Given the description of an element on the screen output the (x, y) to click on. 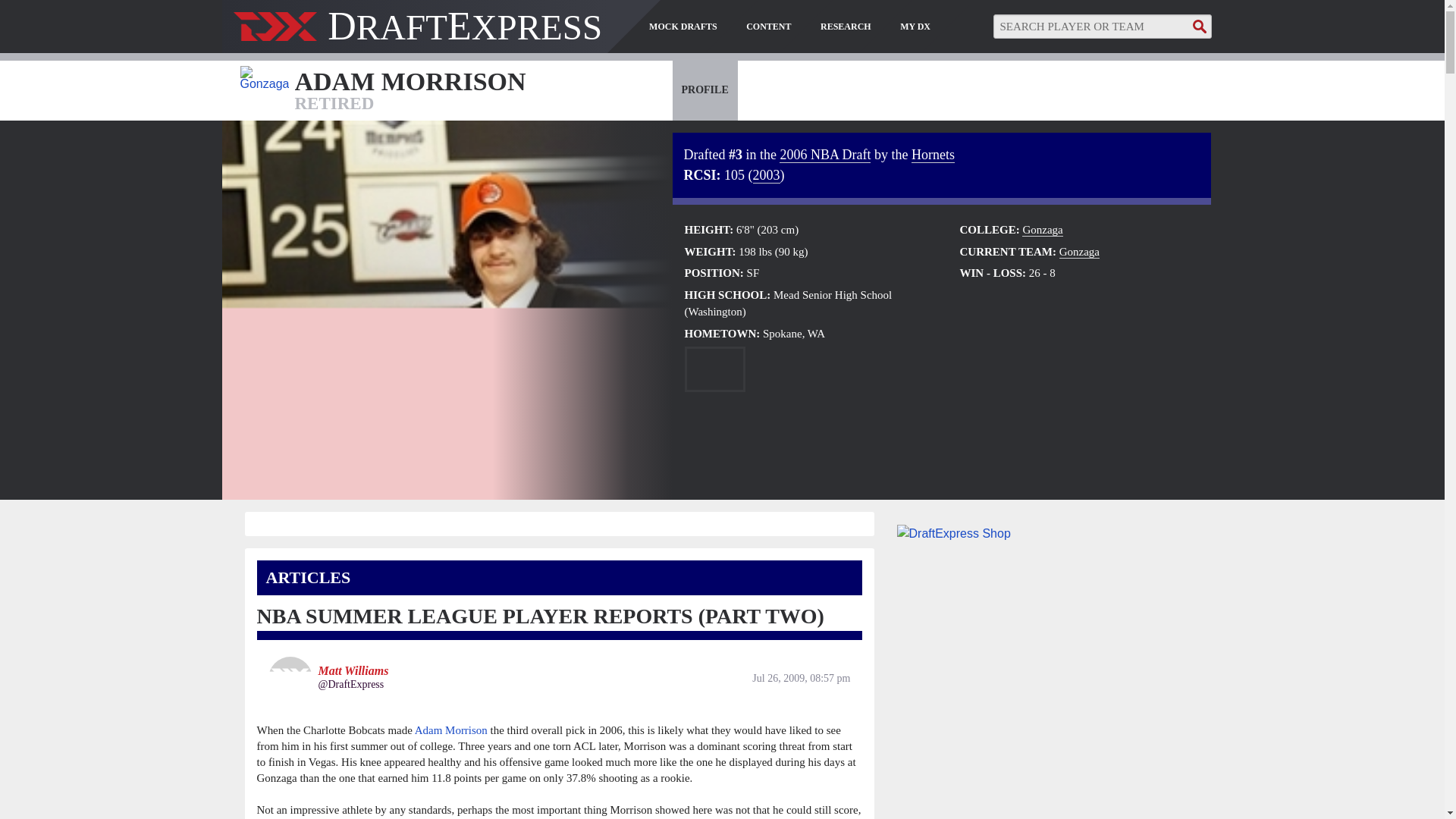
DRAFTEXPRESS (417, 32)
MOCK DRAFTS (683, 26)
RESEARCH (845, 26)
Mock Drafts (683, 26)
